Given the description of an element on the screen output the (x, y) to click on. 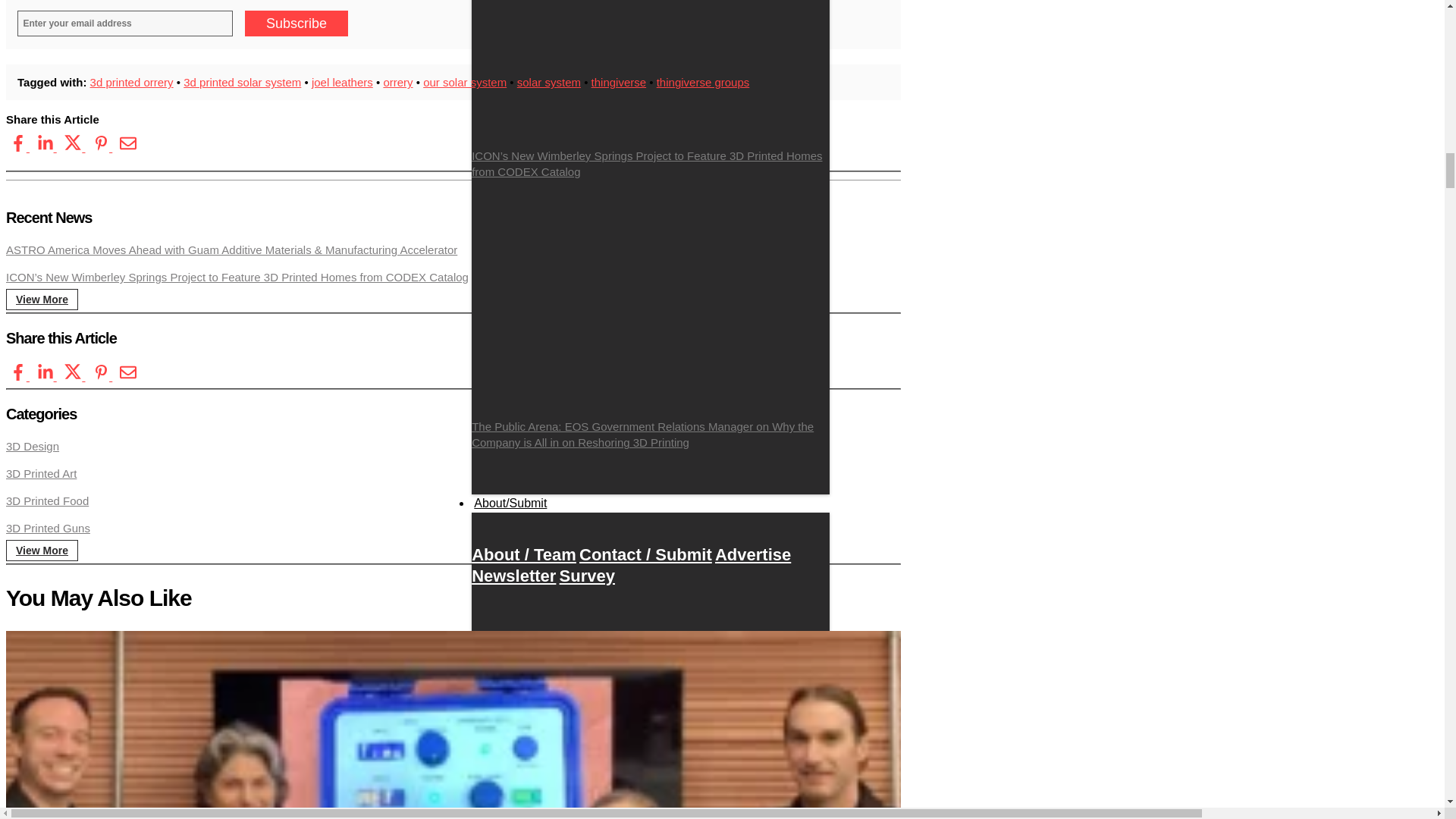
Subscribe (295, 23)
